Given the description of an element on the screen output the (x, y) to click on. 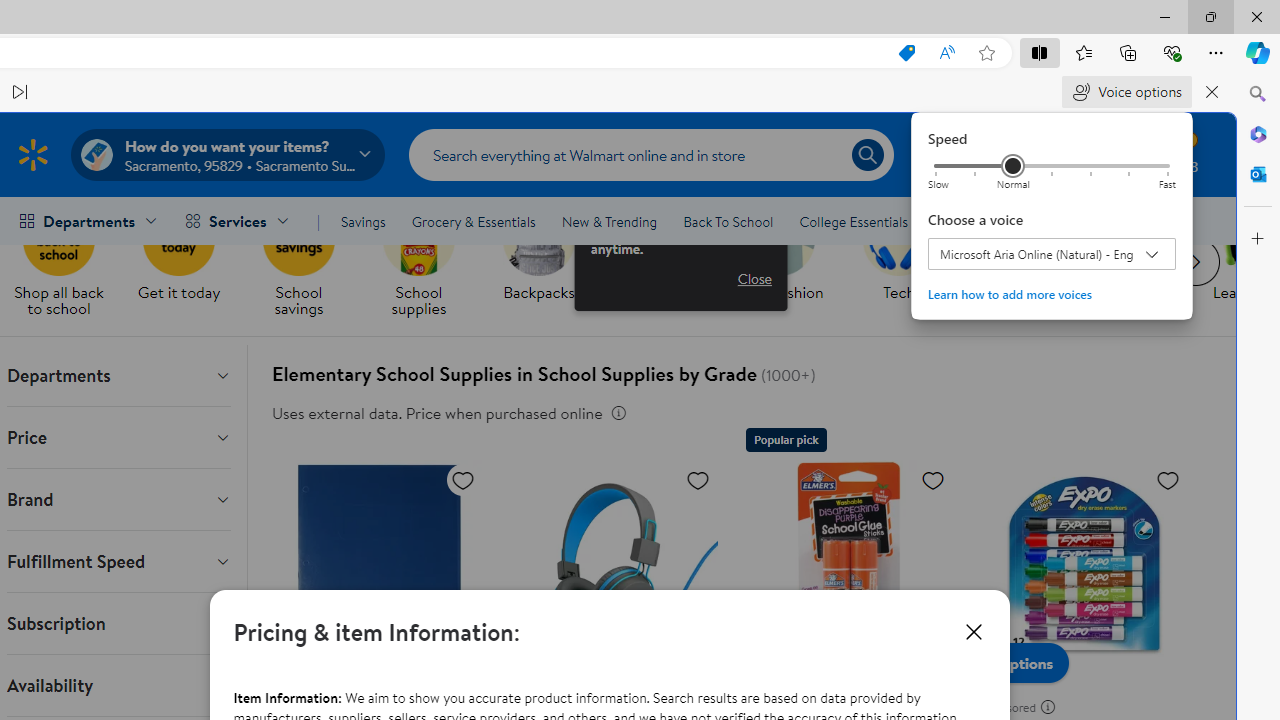
Close Search pane (1258, 94)
Close read aloud (946, 53)
This site has coupons! Shopping in Microsoft Edge, 7 (906, 53)
